Given the description of an element on the screen output the (x, y) to click on. 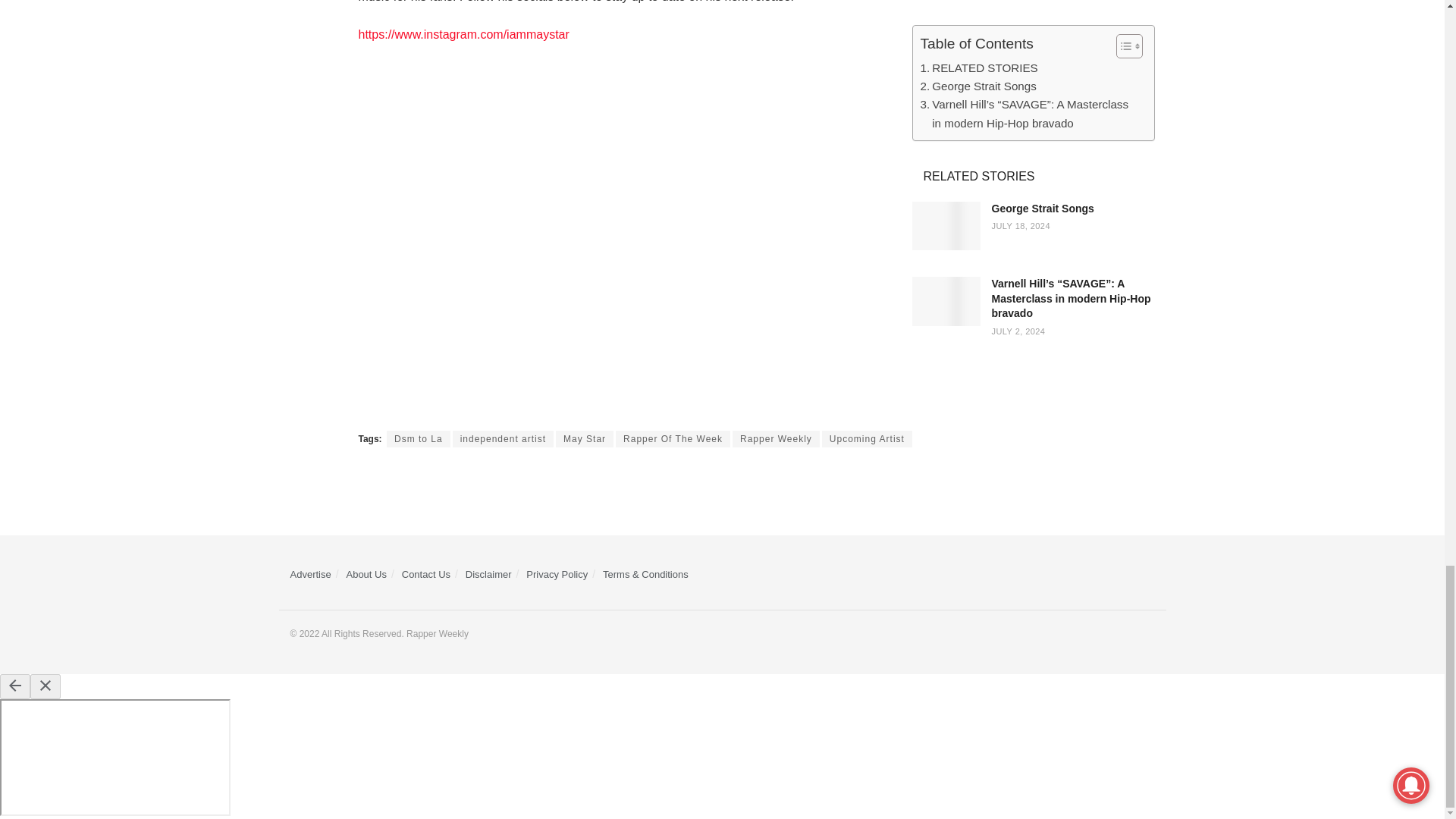
RELATED STORIES (979, 67)
George Strait Songs (978, 85)
JULY 18, 2024 (1020, 225)
JULY 2, 2024 (1018, 330)
George Strait Songs (1042, 208)
RELATED STORIES (979, 67)
